Given the description of an element on the screen output the (x, y) to click on. 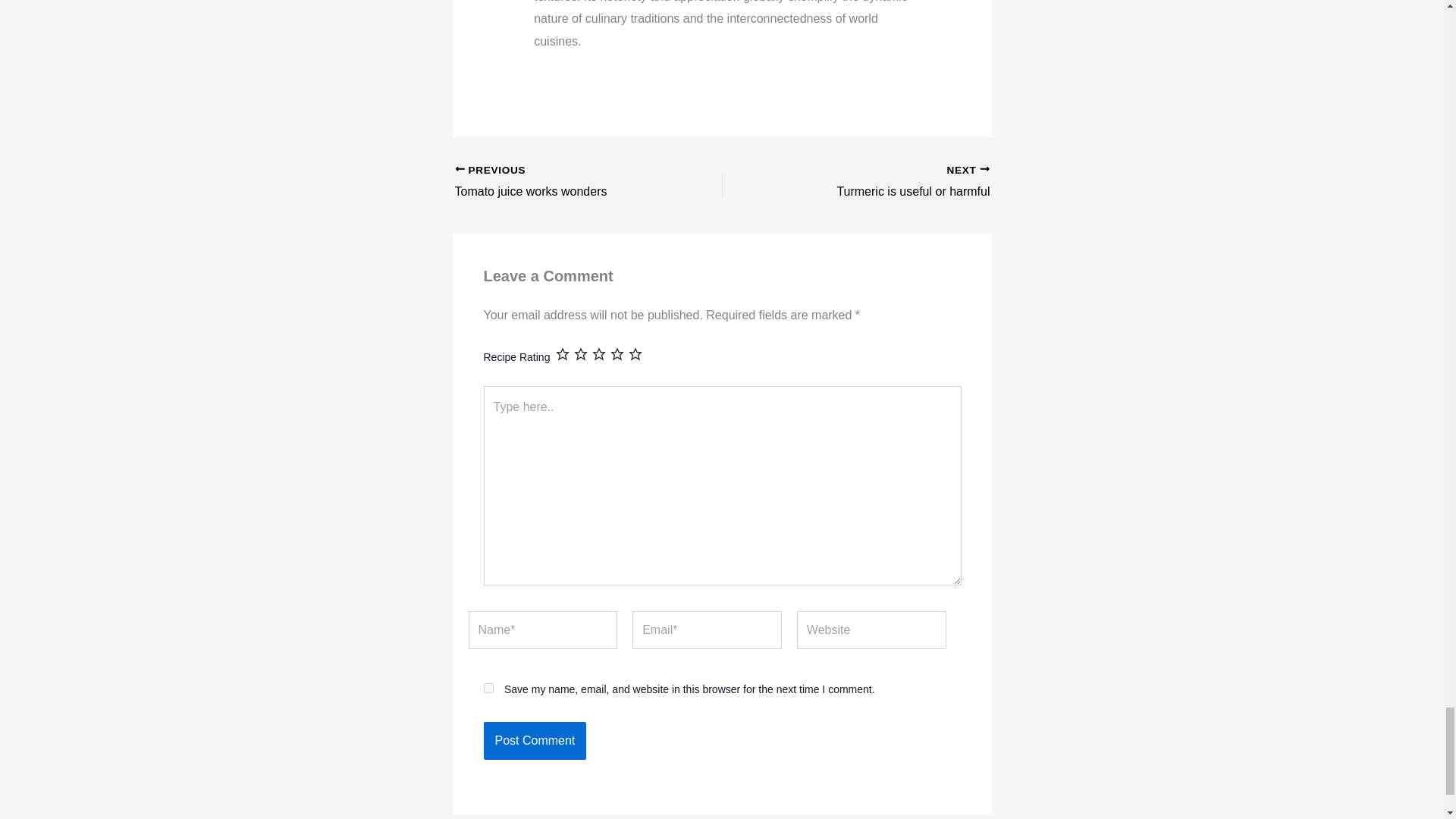
Tomato juice works wonders (561, 182)
Post Comment (534, 740)
yes (488, 687)
Post Comment (882, 182)
Turmeric is useful or harmful (561, 182)
